Given the description of an element on the screen output the (x, y) to click on. 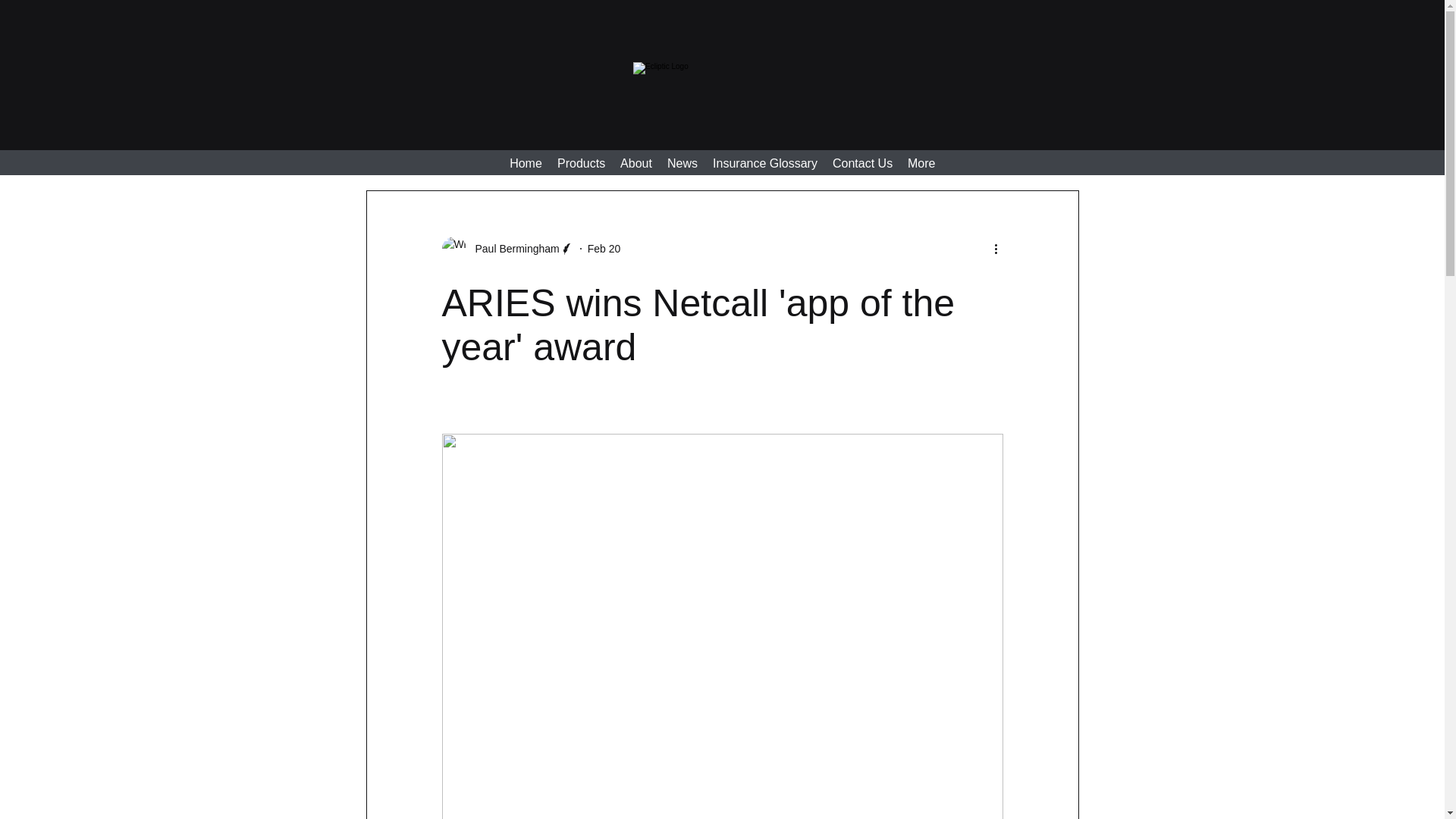
Home (526, 163)
News (681, 163)
Contact Us (862, 163)
Insurance Glossary (764, 163)
Paul Bermingham (507, 248)
About (635, 163)
Paul Bermingham (512, 248)
Feb 20 (604, 248)
Products (581, 163)
